Given the description of an element on the screen output the (x, y) to click on. 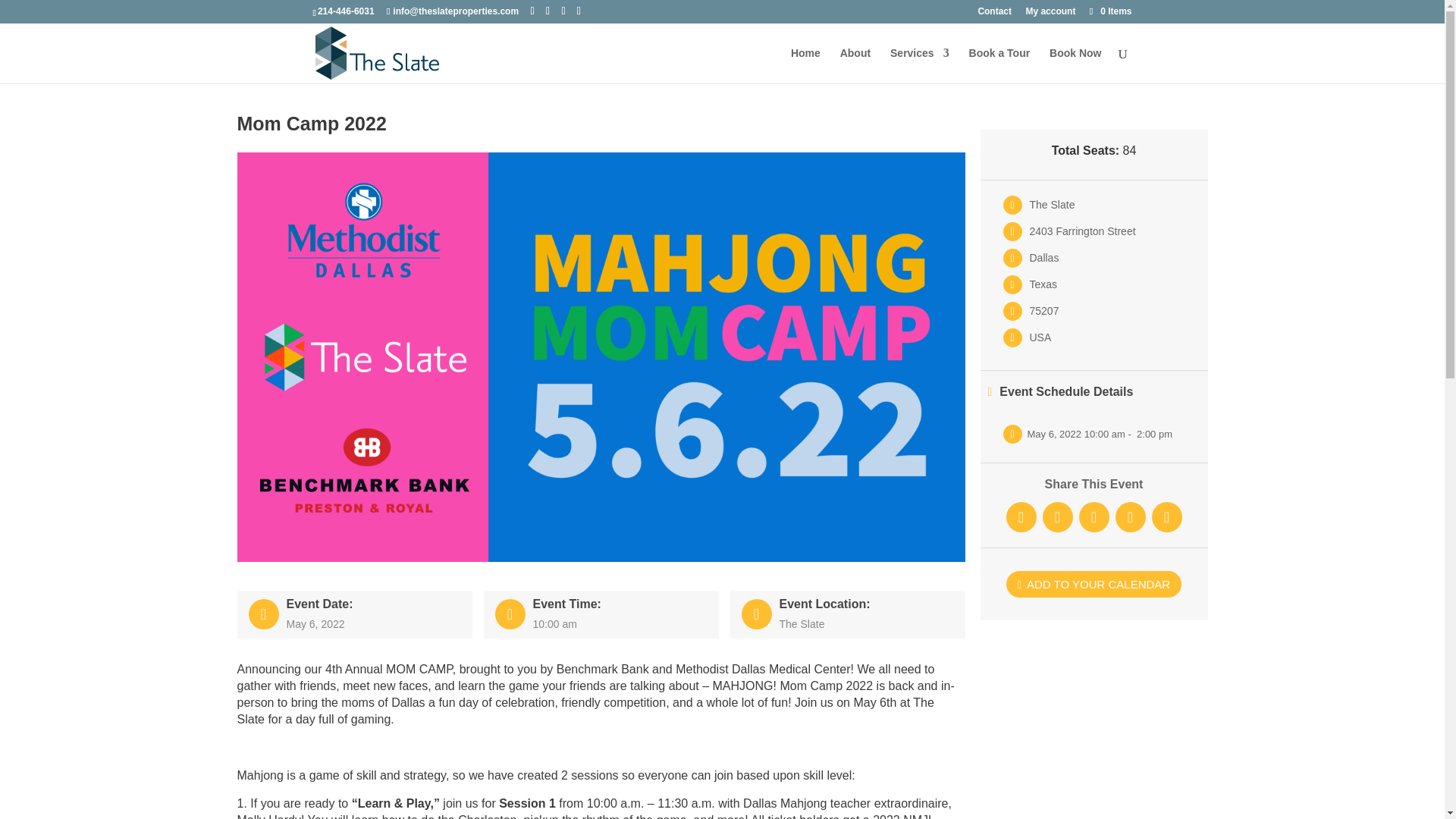
Share by Email (1165, 517)
Book Now (1074, 65)
0 Items (1108, 10)
214-446-6031 (345, 10)
Book a Tour (999, 65)
Services (919, 65)
My account (1050, 14)
Contact (993, 14)
